Given the description of an element on the screen output the (x, y) to click on. 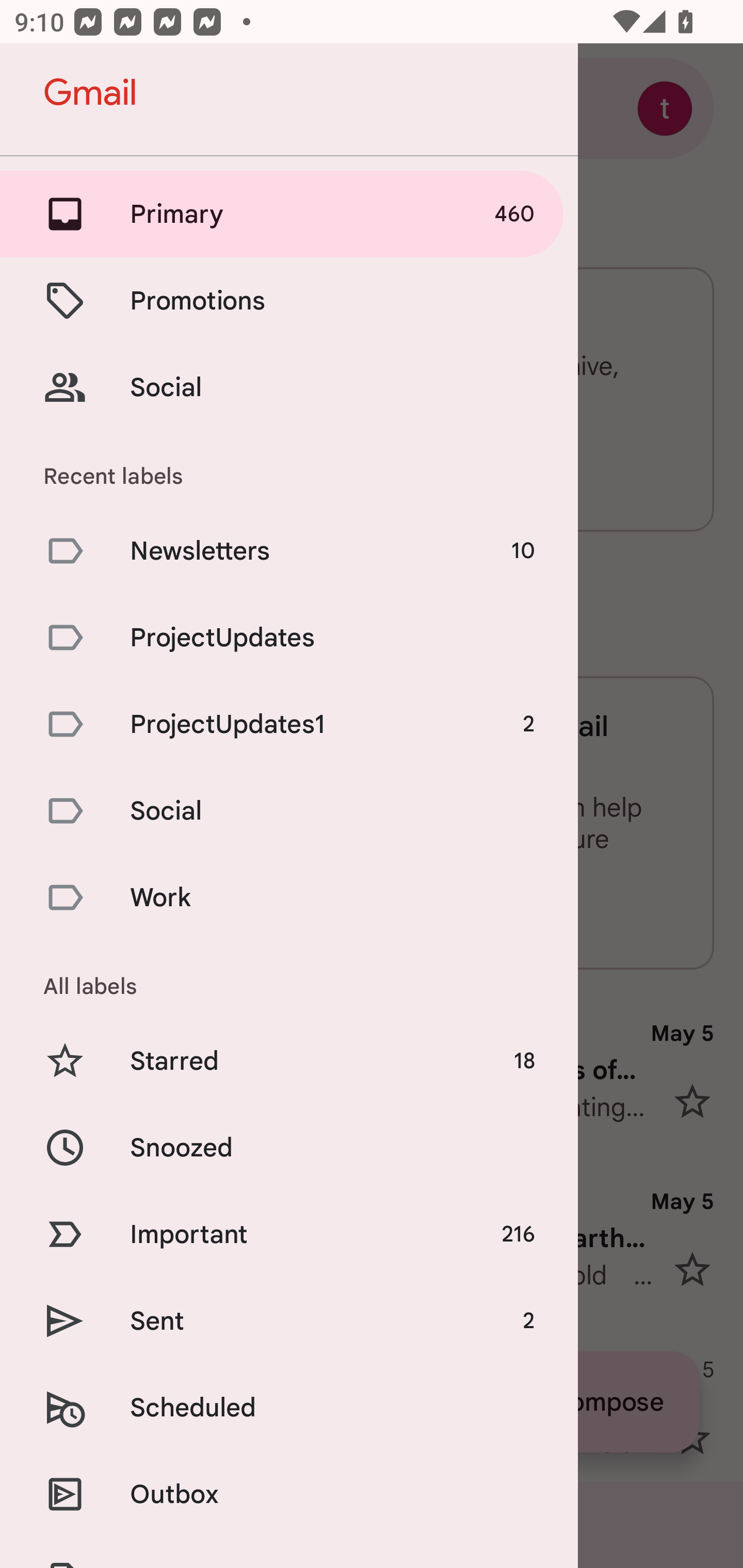
Primary 460 (289, 213)
Promotions (289, 300)
Social (289, 387)
Newsletters 10 (289, 551)
ProjectUpdates (289, 637)
ProjectUpdates1 2 (289, 723)
Social (289, 810)
Work (289, 897)
Starred 18 (289, 1060)
Snoozed (289, 1147)
Important 216 (289, 1234)
Sent 2 (289, 1320)
Scheduled (289, 1407)
Outbox (289, 1494)
